Given the description of an element on the screen output the (x, y) to click on. 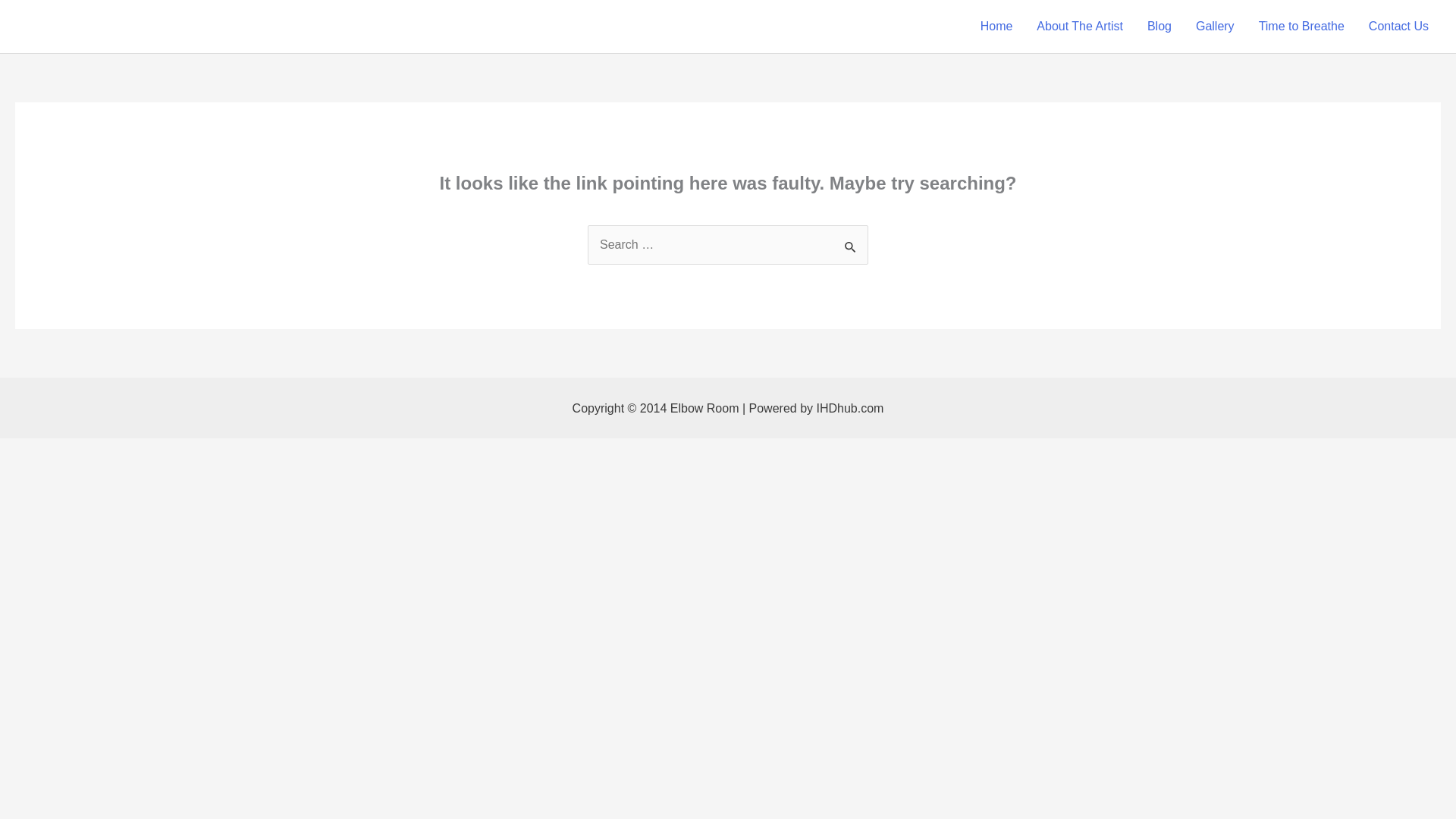
About The Artist (1080, 26)
Contact Us (1398, 26)
Home (996, 26)
Gallery (1214, 26)
Blog (1159, 26)
Time to Breathe (1301, 26)
